Given the description of an element on the screen output the (x, y) to click on. 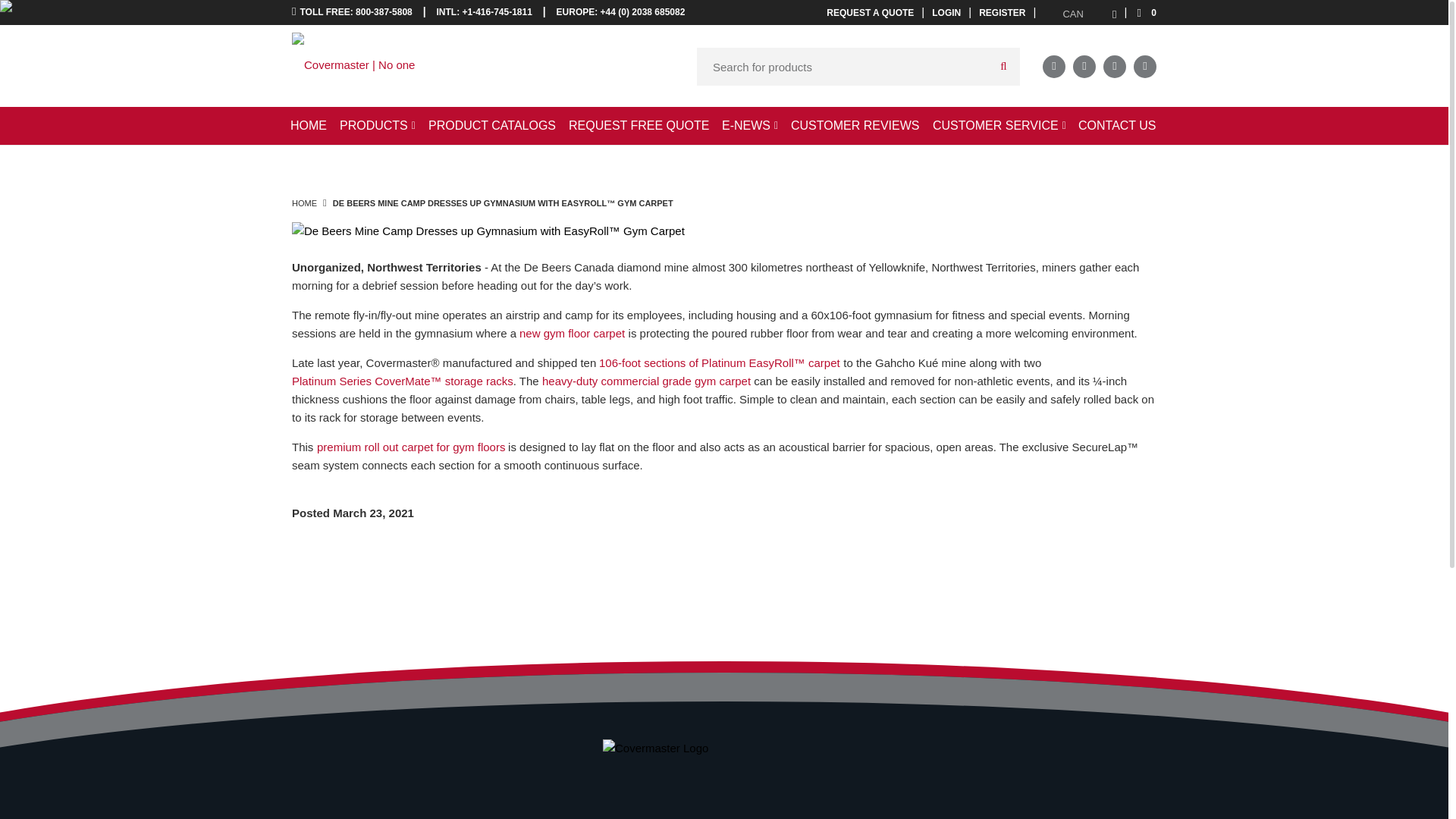
Covermaster (358, 64)
TOLL FREE: 800-387-5808 (356, 12)
0 (1141, 13)
Cart (1141, 13)
PRODUCTS (376, 125)
REGISTER (1001, 12)
Request a Quote (869, 13)
HOME (307, 125)
LOGIN (946, 12)
REQUEST A QUOTE (869, 13)
